Given the description of an element on the screen output the (x, y) to click on. 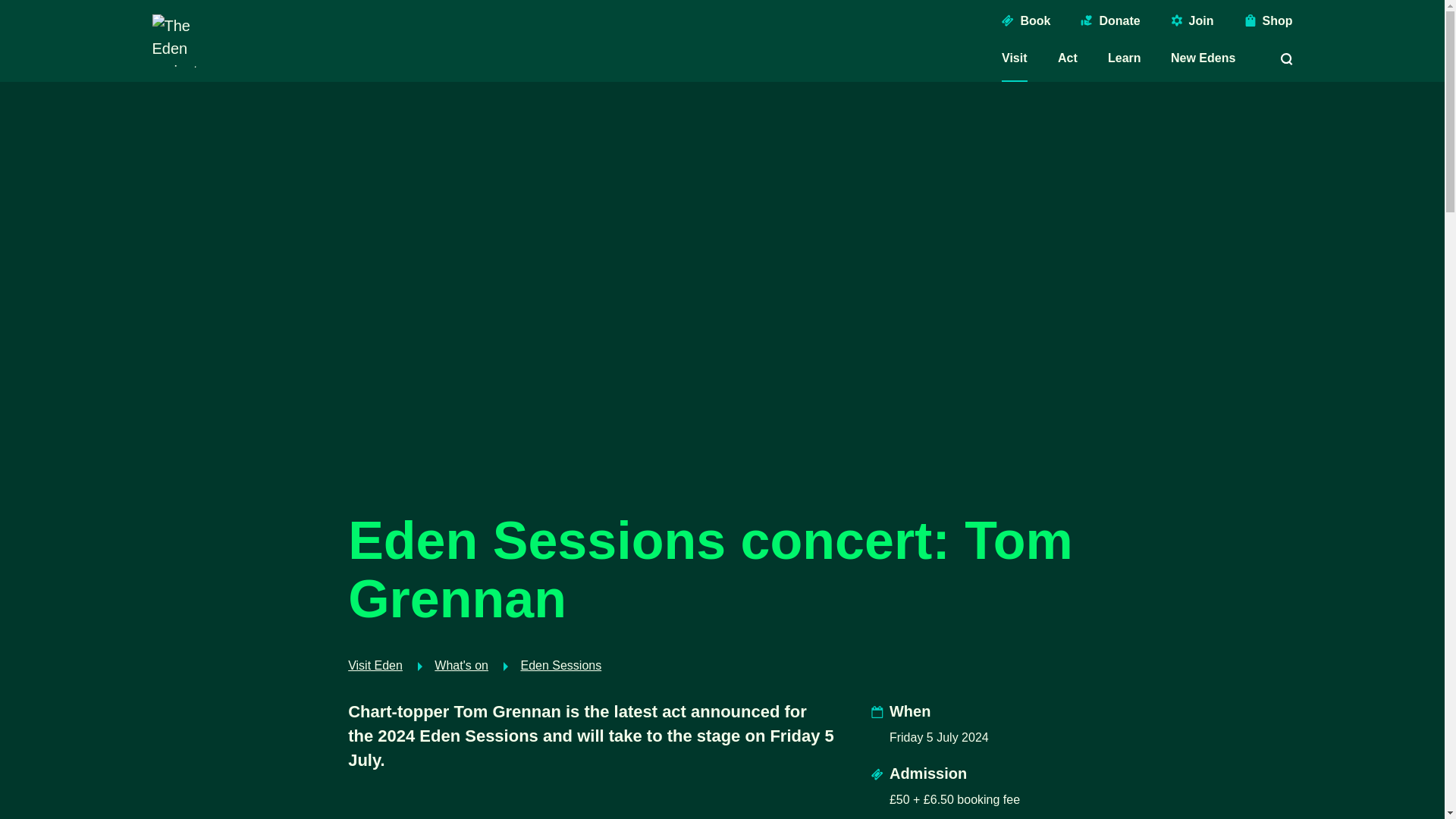
Visit (1014, 57)
Donate (1110, 21)
Learn (1124, 57)
Shop (1267, 21)
Act (1067, 57)
Join (1192, 21)
Book (1025, 21)
